Given the description of an element on the screen output the (x, y) to click on. 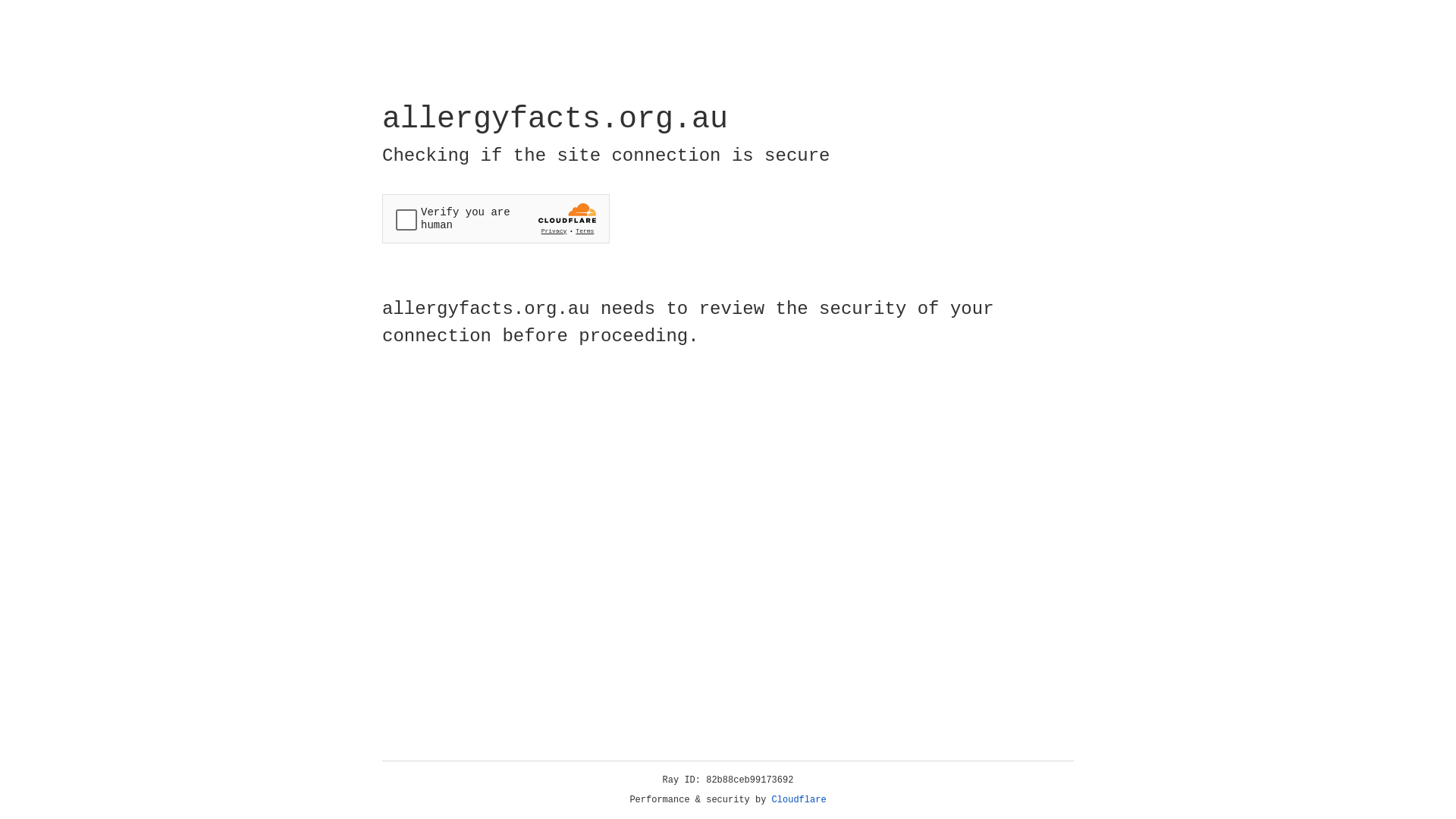
Widget containing a Cloudflare security challenge Element type: hover (495, 218)
Cloudflare Element type: text (798, 799)
